Given the description of an element on the screen output the (x, y) to click on. 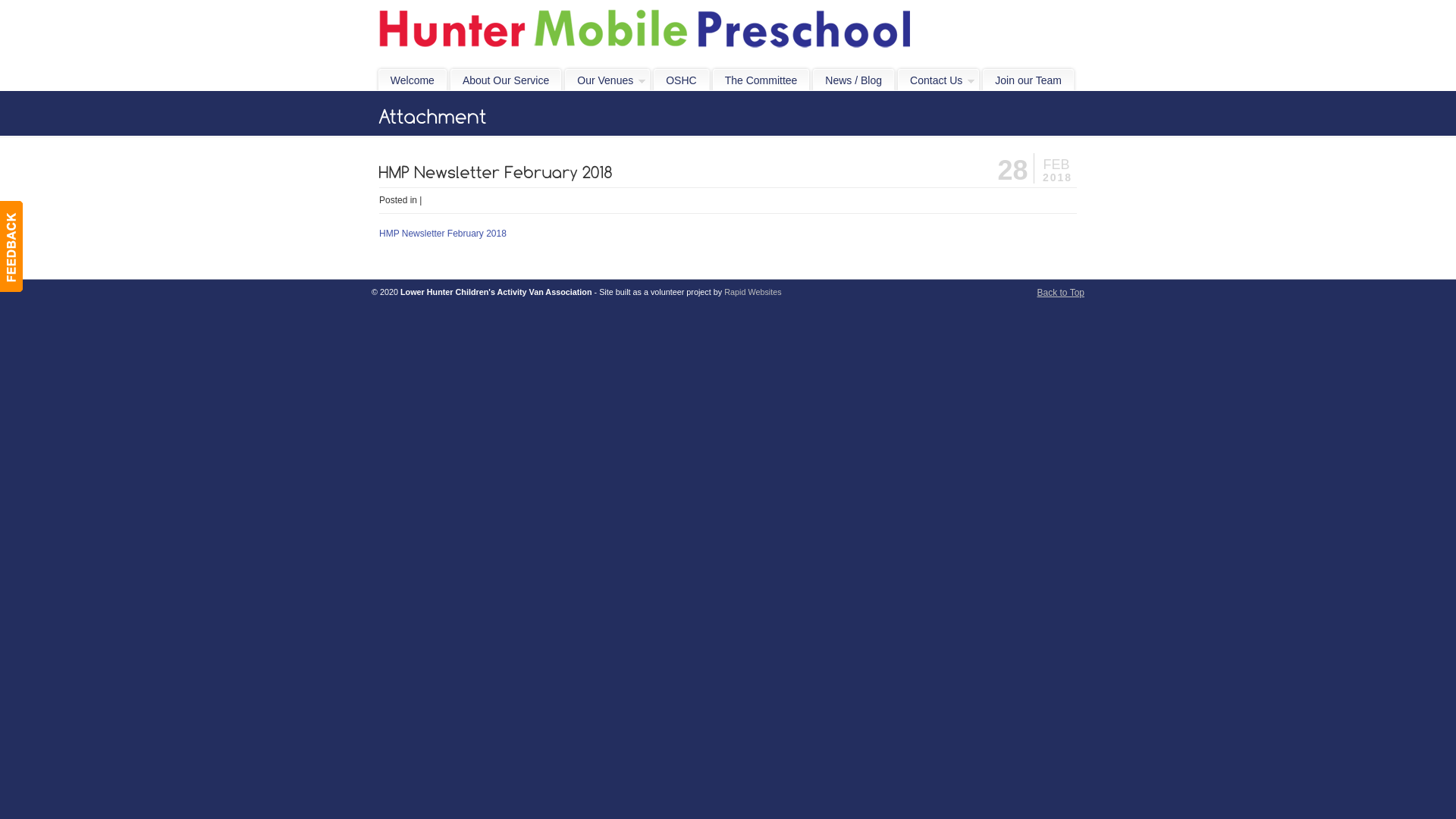
Join our Team Element type: text (1027, 80)
Back to Top Element type: text (1060, 292)
News / Blog Element type: text (853, 80)
Hunter Mobile Preschool Element type: text (645, 30)
Rapid Websites Element type: text (752, 291)
Feedback Element type: hover (11, 245)
About Our Service Element type: text (505, 80)
The Committee Element type: text (760, 80)
Welcome Element type: text (412, 80)
HMP Newsletter February 2018 Element type: text (442, 233)
OSHC Element type: text (680, 80)
